Given the description of an element on the screen output the (x, y) to click on. 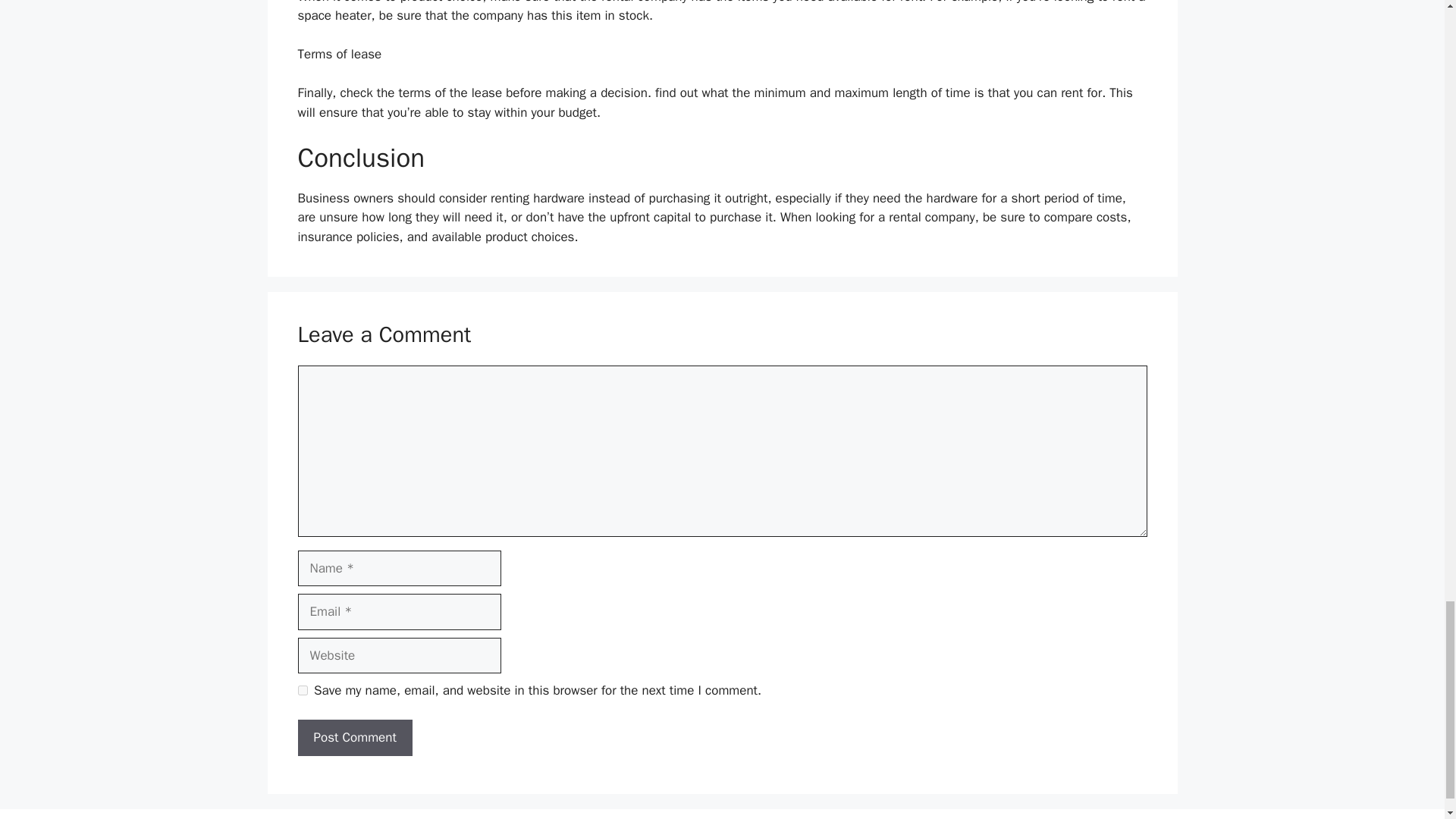
yes (302, 690)
Post Comment (354, 737)
Post Comment (354, 737)
